Given the description of an element on the screen output the (x, y) to click on. 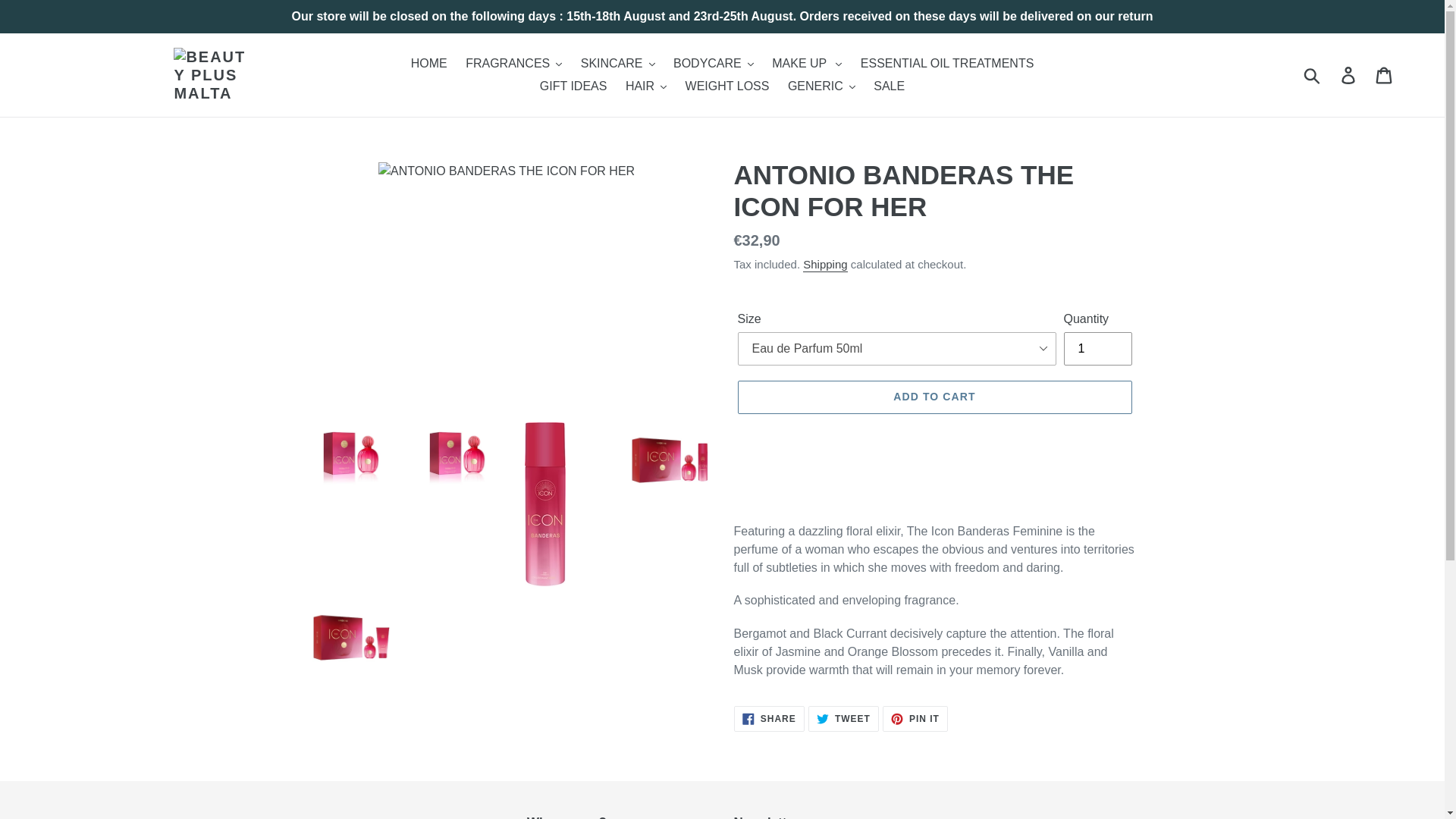
HOME (428, 63)
1 (1096, 348)
